Given the description of an element on the screen output the (x, y) to click on. 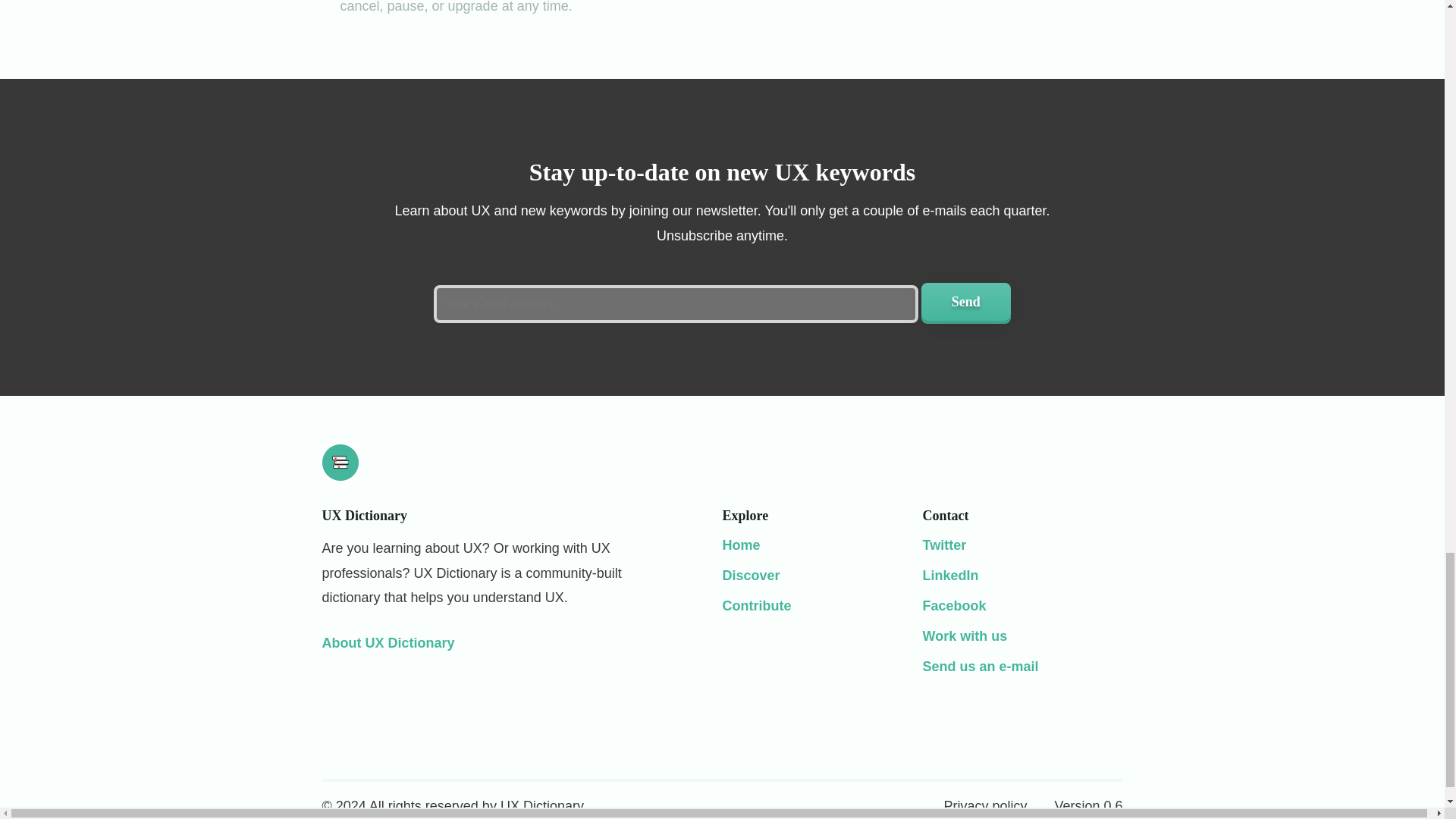
UX Dictionary (741, 544)
Send (965, 301)
Privacy policy (984, 806)
Work with us (964, 635)
Discover (750, 575)
About UX Dictionary (387, 642)
Send us an e-mail (979, 666)
LinkedIn (949, 575)
Twitter (943, 544)
About UX Dictionary (387, 642)
Facebook (953, 605)
Contribute (756, 605)
Home (741, 544)
Discover (750, 575)
